Given the description of an element on the screen output the (x, y) to click on. 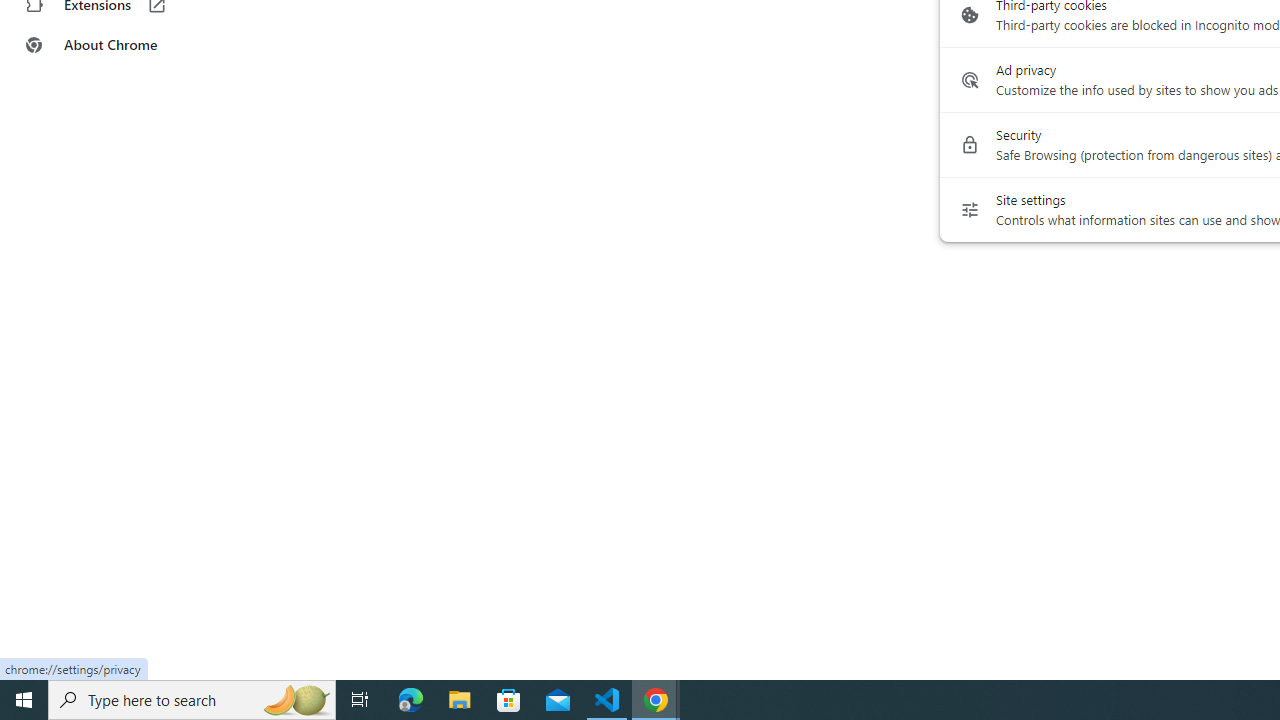
About Chrome (124, 44)
